Given the description of an element on the screen output the (x, y) to click on. 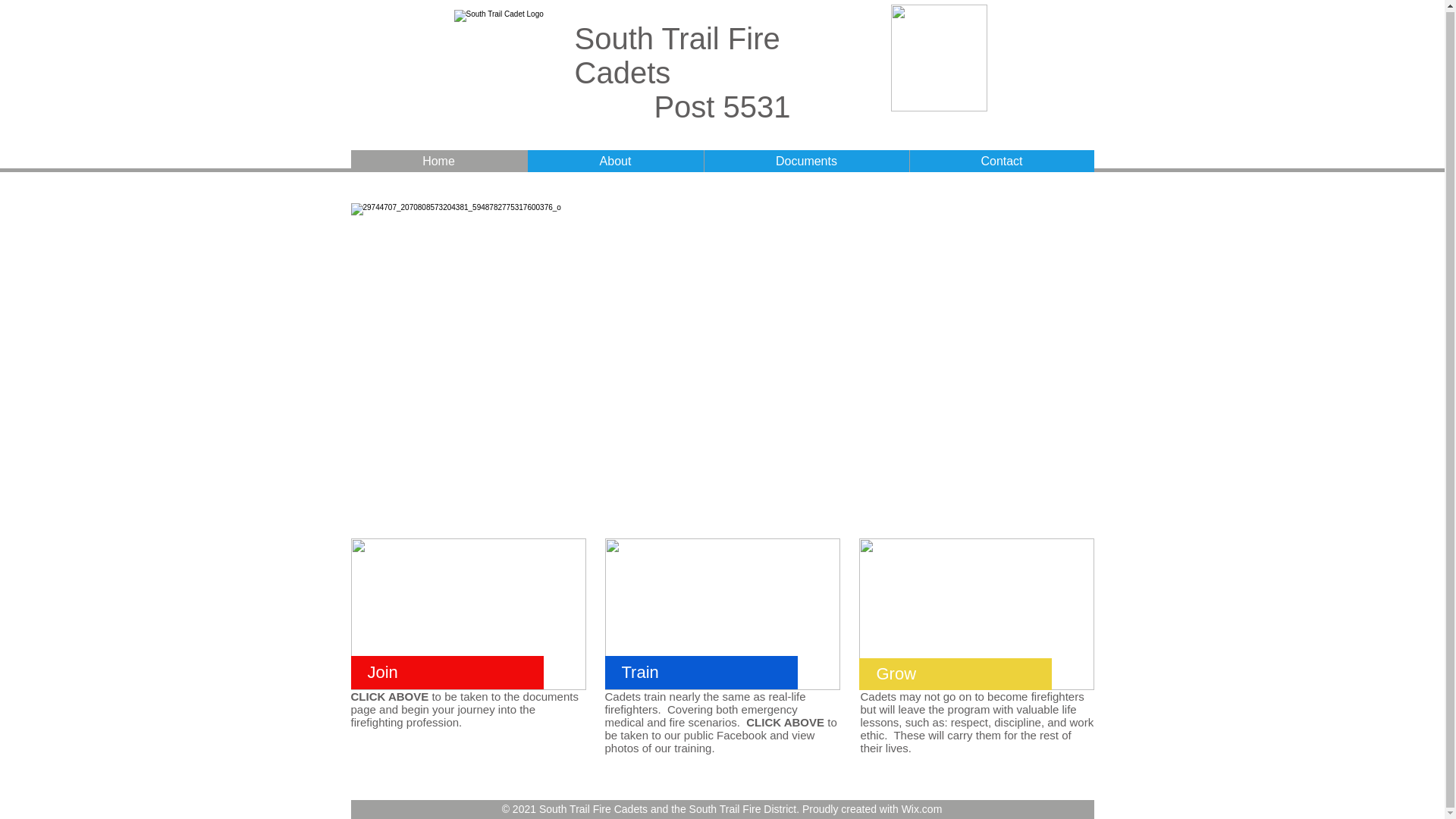
Home (437, 160)
Contact (1000, 160)
Train (640, 671)
Wix.com (921, 808)
About (614, 160)
Documents (805, 160)
South Trail Fire Cadets (677, 55)
Join (381, 671)
